Given the description of an element on the screen output the (x, y) to click on. 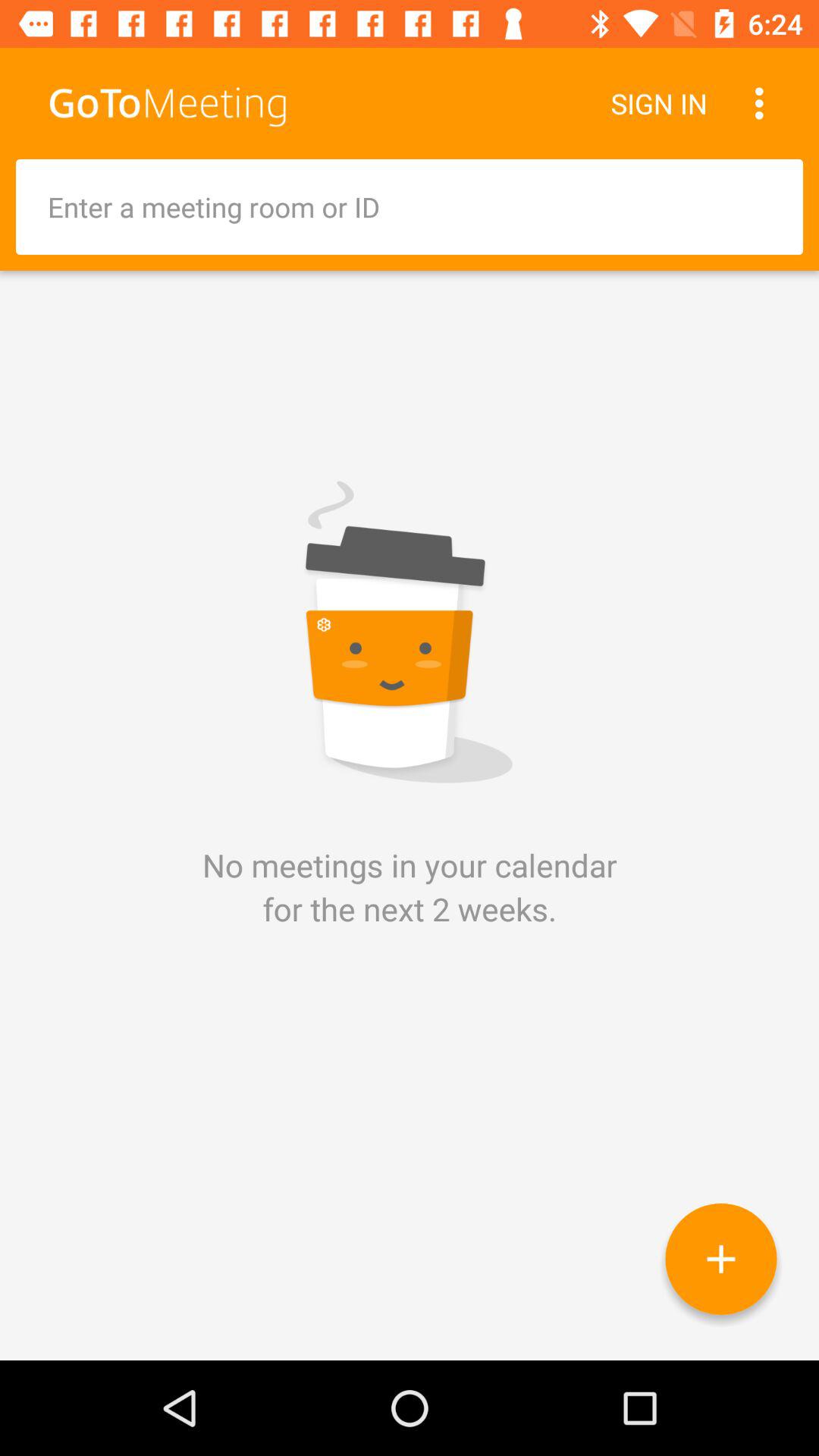
add a meeting (720, 1258)
